Given the description of an element on the screen output the (x, y) to click on. 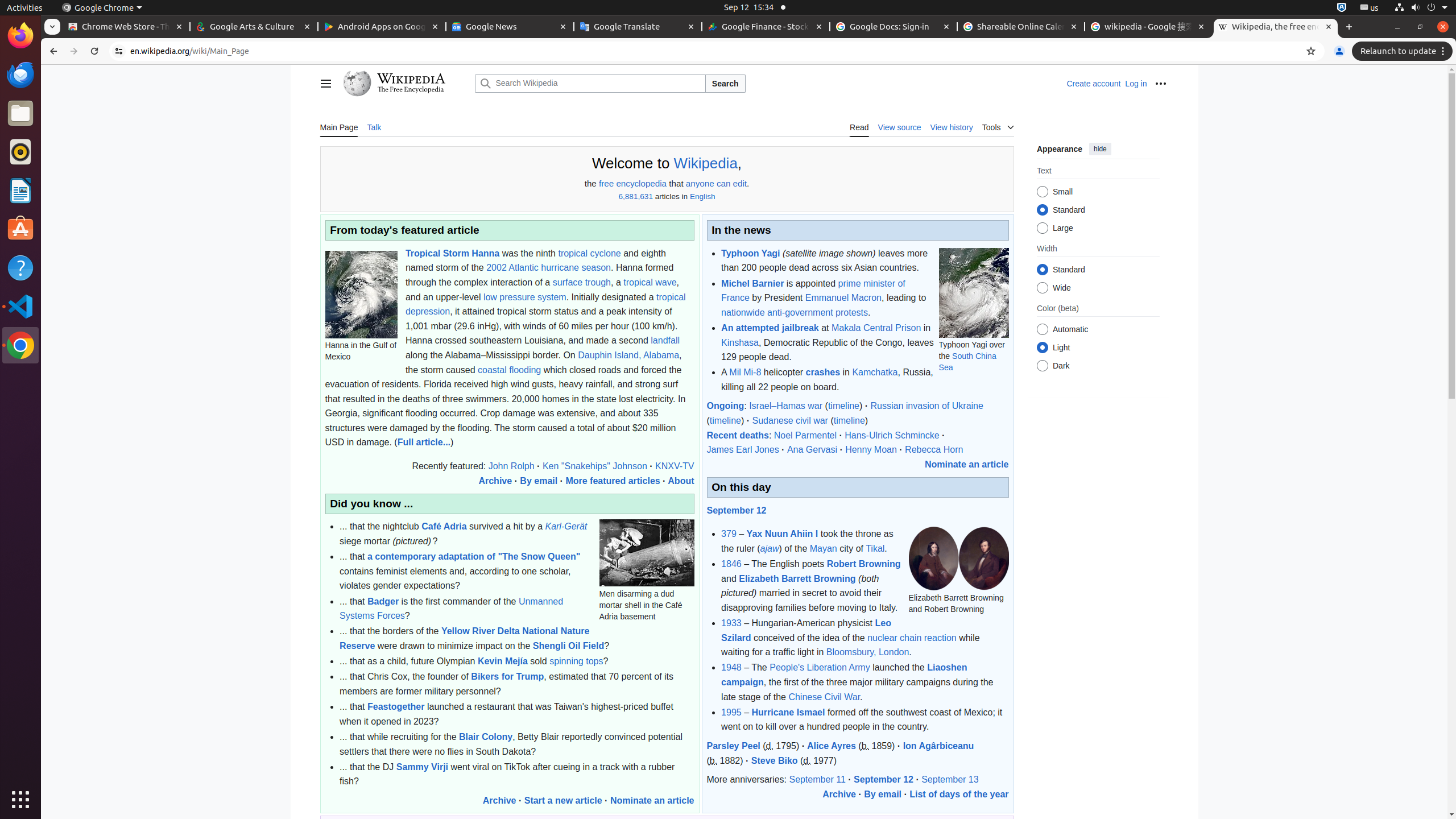
Tikal Element type: link (874, 548)
encyclopedia Element type: link (641, 183)
Standard Element type: radio-button (1042, 269)
surface trough Element type: link (581, 281)
2002 Atlantic hurricane season Element type: link (548, 267)
